Given the description of an element on the screen output the (x, y) to click on. 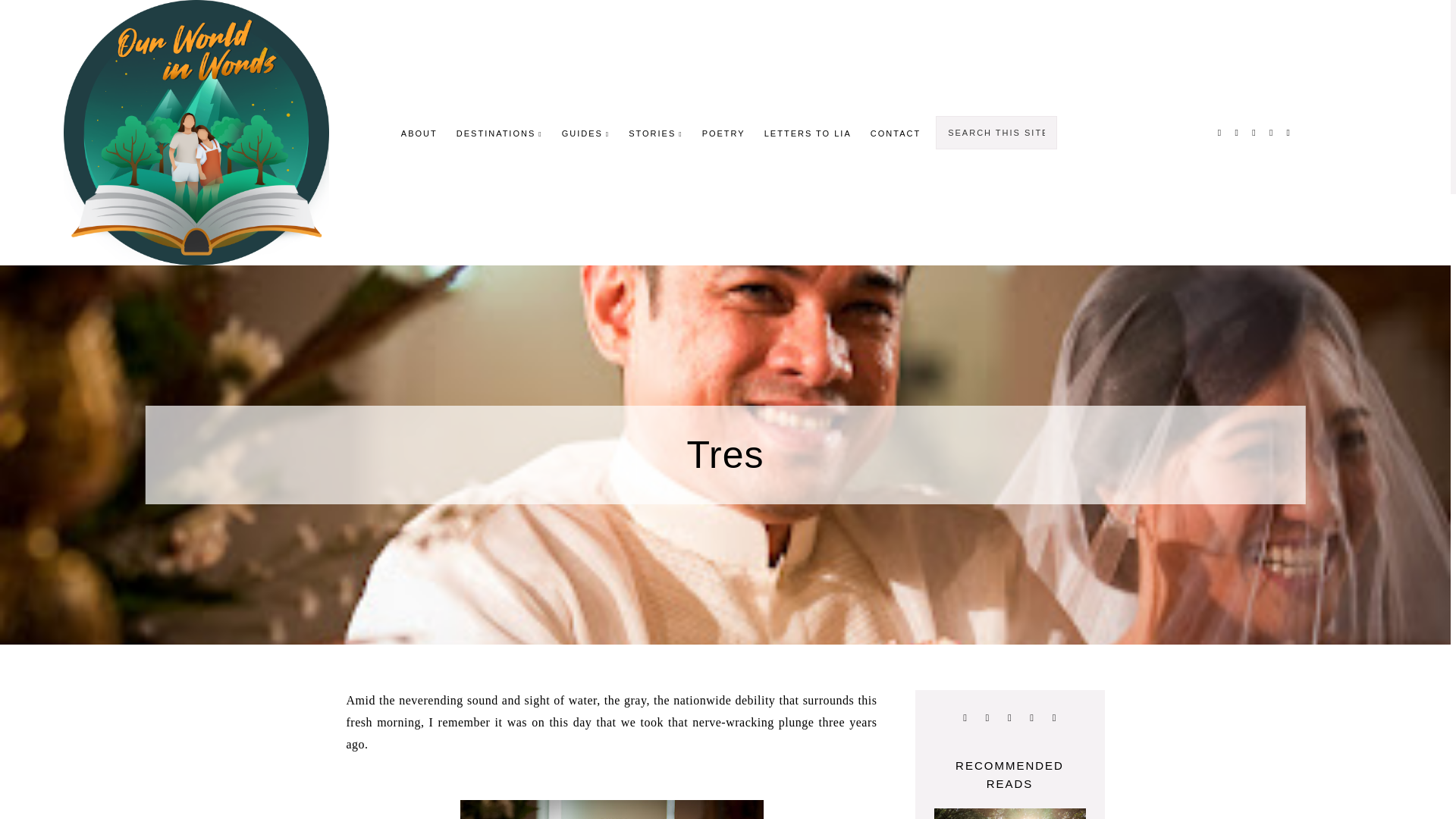
GUIDES (586, 133)
POETRY (723, 133)
STORIES (655, 133)
ABOUT (419, 133)
LETTERS TO LIA (807, 133)
DESTINATIONS (500, 133)
CONTACT (895, 133)
